Given the description of an element on the screen output the (x, y) to click on. 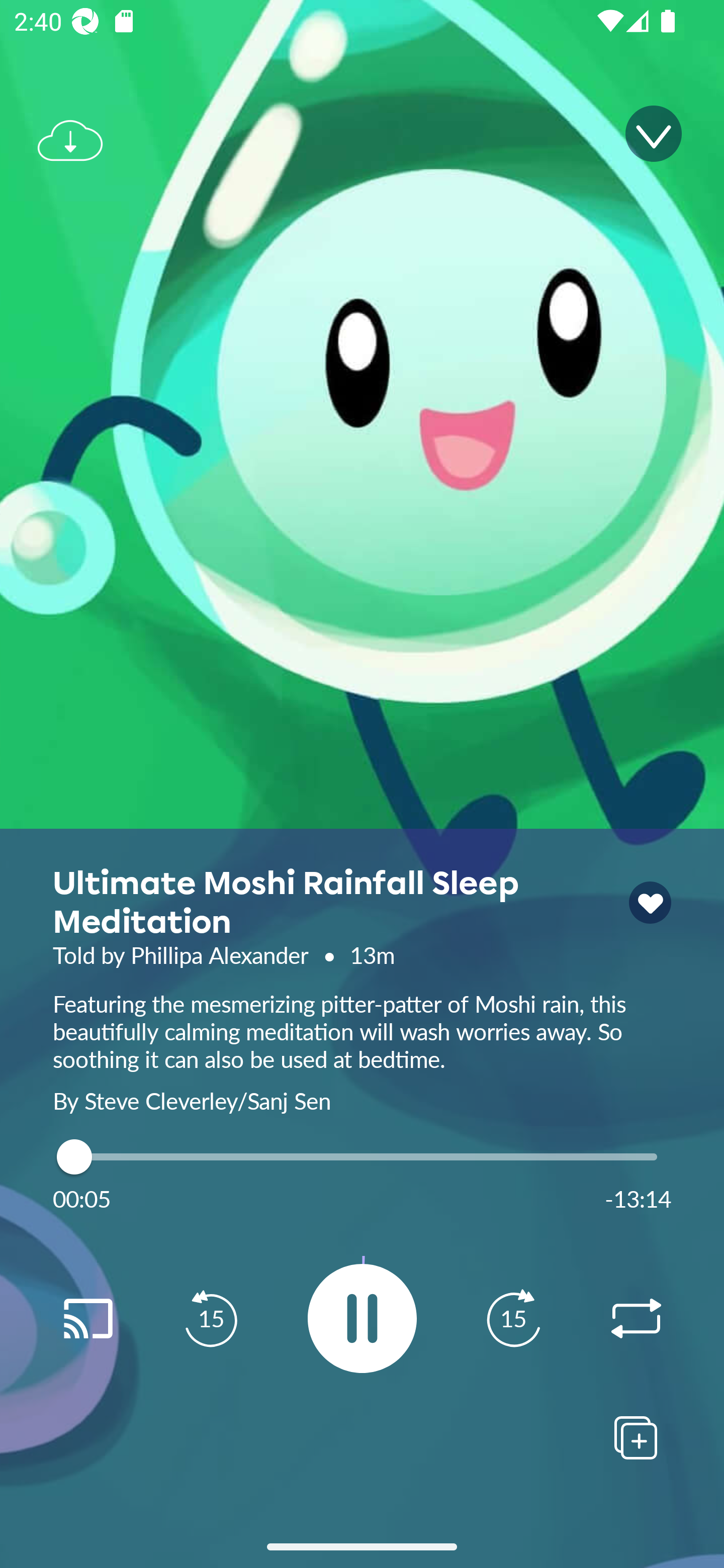
lock icon (650, 902)
0.00659 Pause (361, 1317)
Replay (87, 1318)
Replay 15 (210, 1318)
Replay 15 (513, 1318)
Replay (635, 1318)
Add To Playlists (635, 1437)
